Given the description of an element on the screen output the (x, y) to click on. 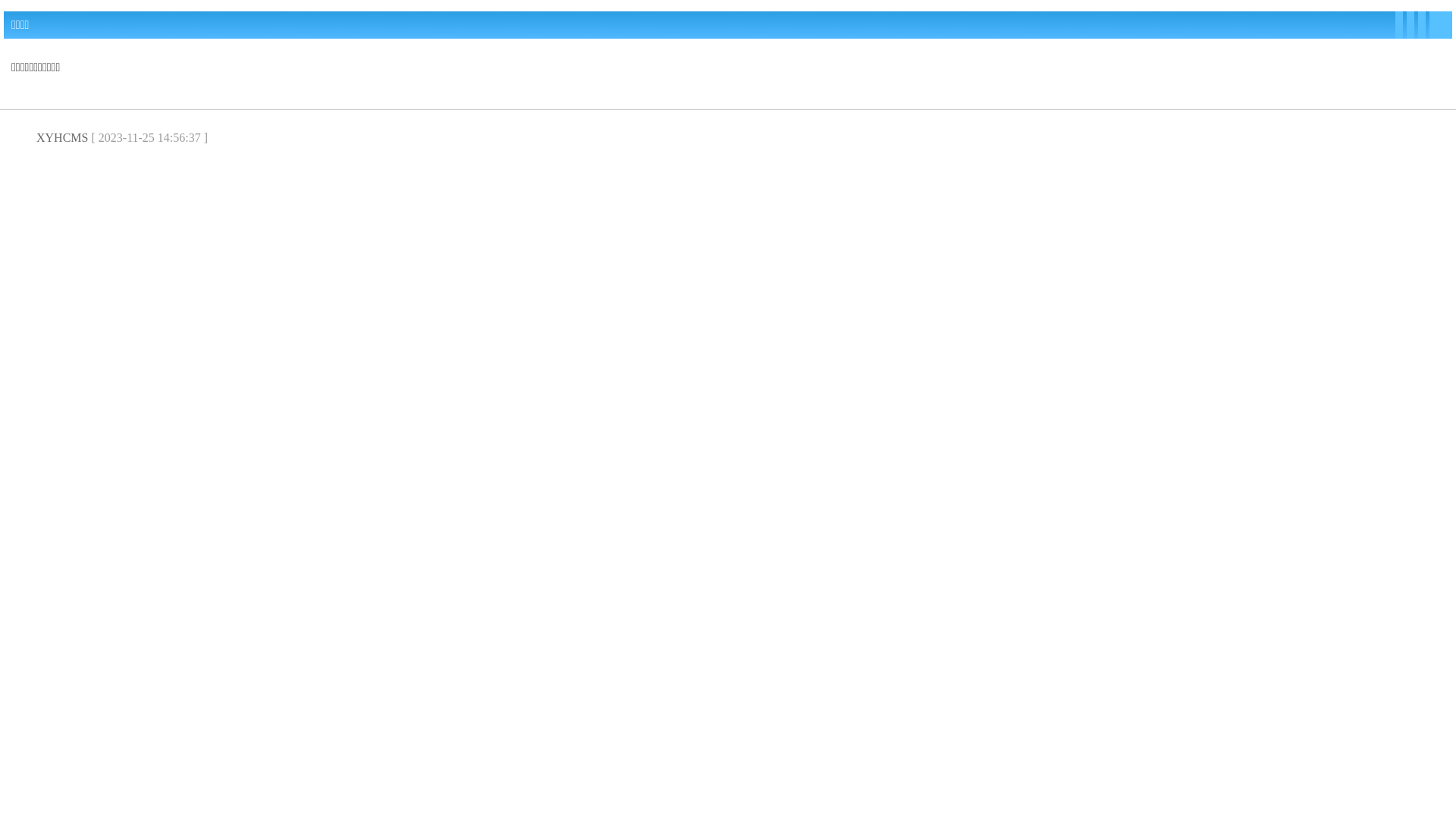
XYHCMS Element type: text (61, 137)
